Given the description of an element on the screen output the (x, y) to click on. 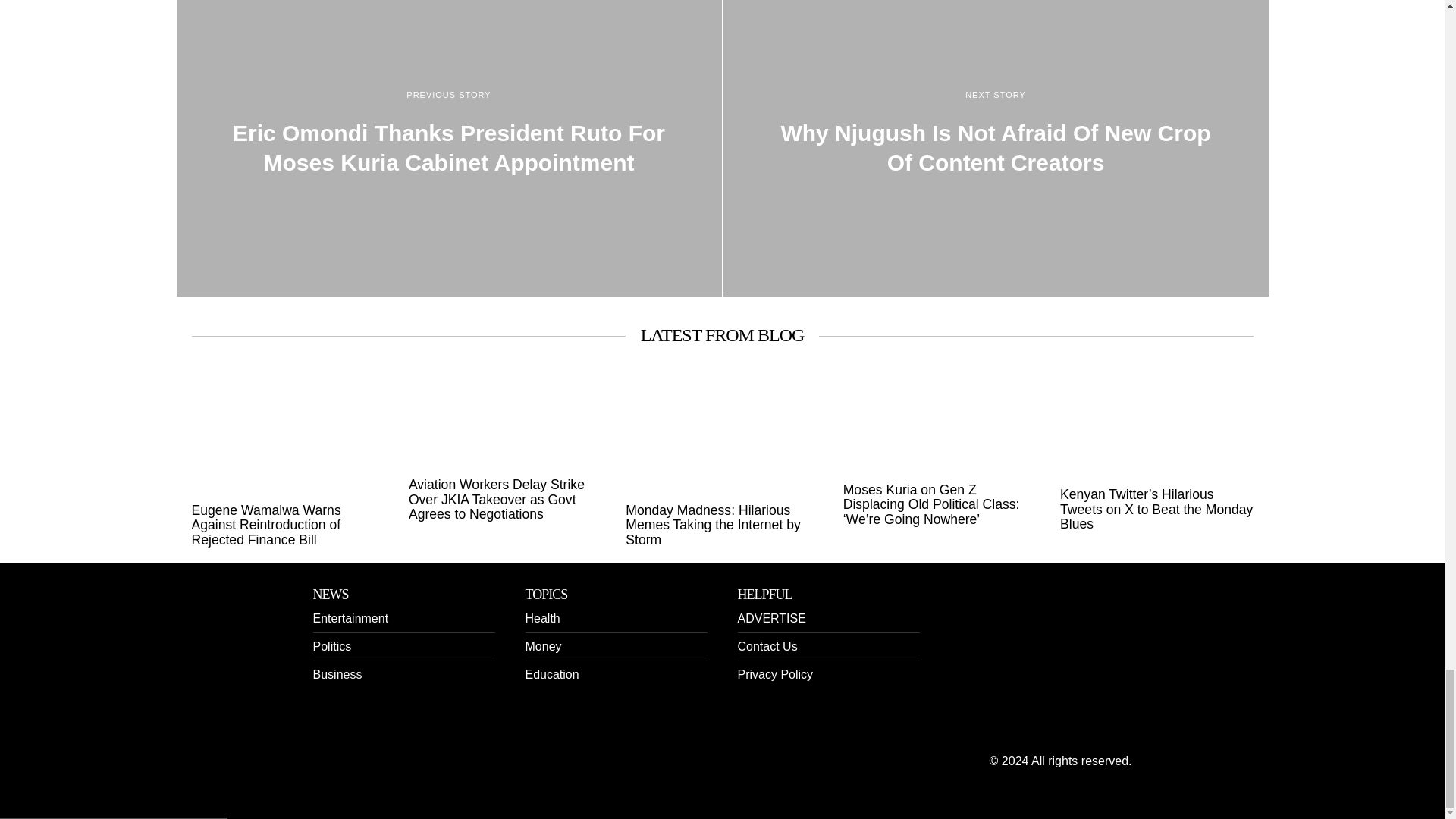
Monday Madness: Hilarious Memes Taking the Internet by Storm (722, 525)
Entertainment (350, 617)
Money (542, 645)
Business (337, 674)
Health (541, 617)
Politics (331, 645)
